Given the description of an element on the screen output the (x, y) to click on. 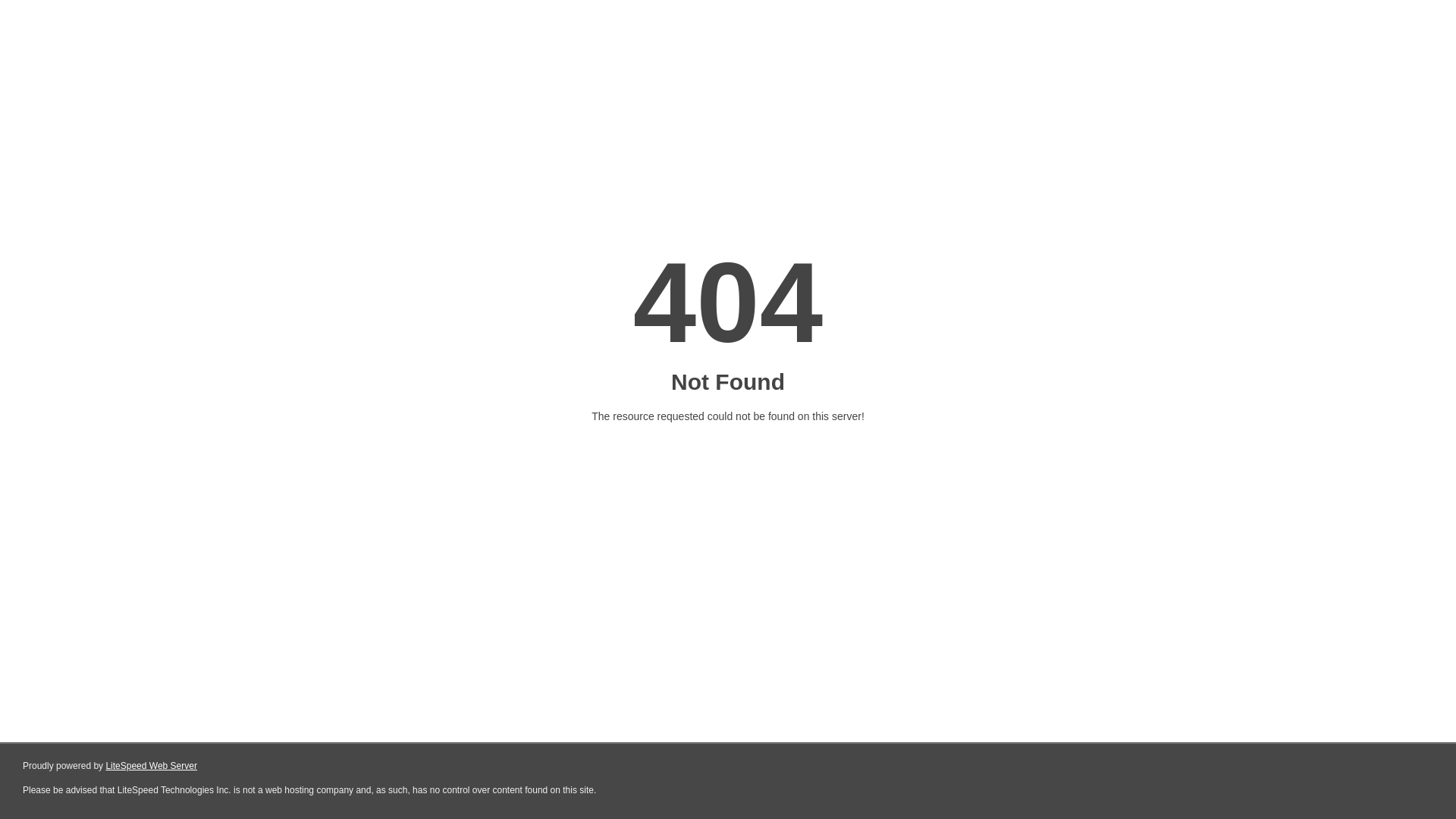
LiteSpeed Web Server Element type: text (151, 765)
